Given the description of an element on the screen output the (x, y) to click on. 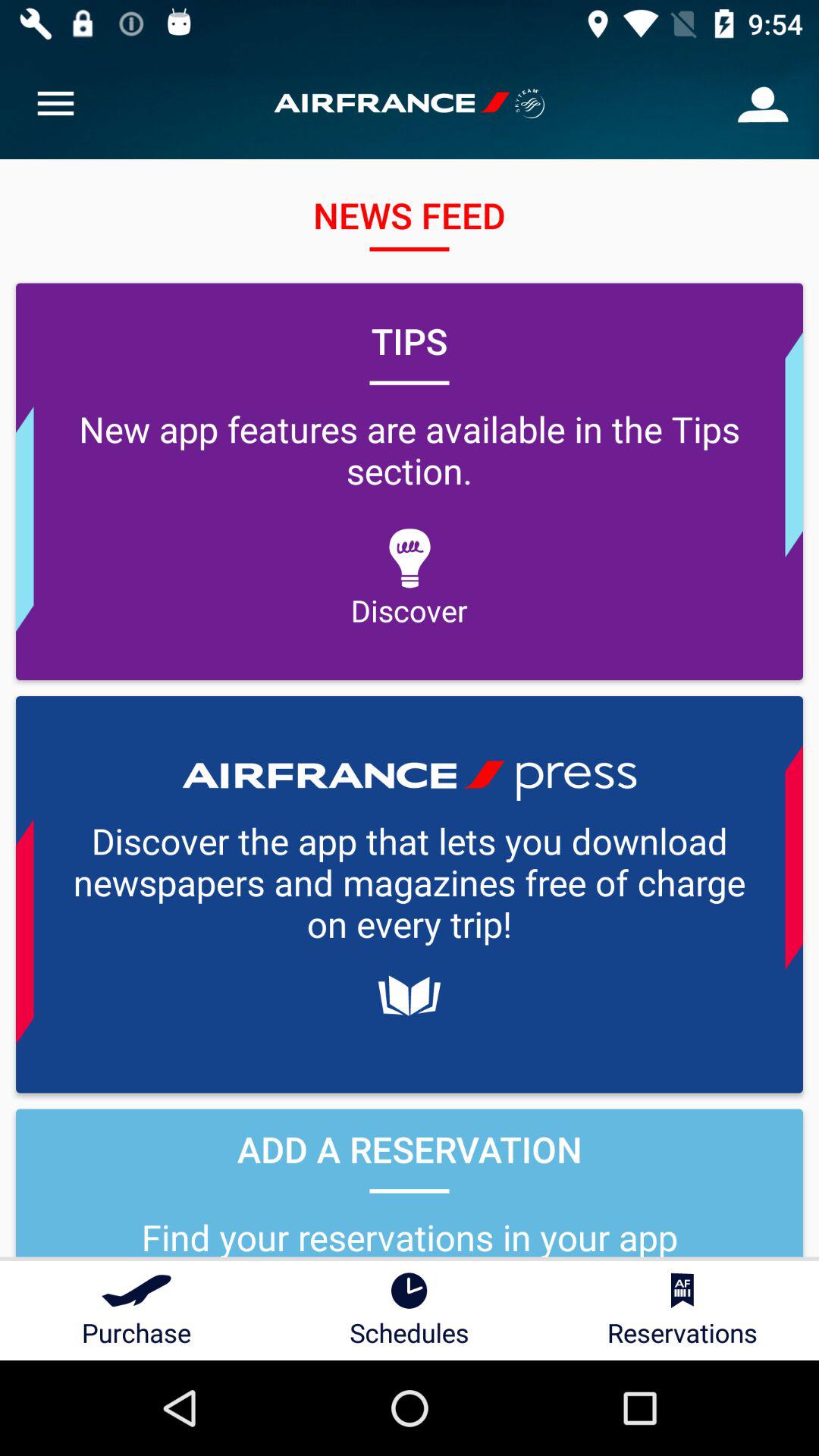
open the icon above the tips icon (763, 103)
